Given the description of an element on the screen output the (x, y) to click on. 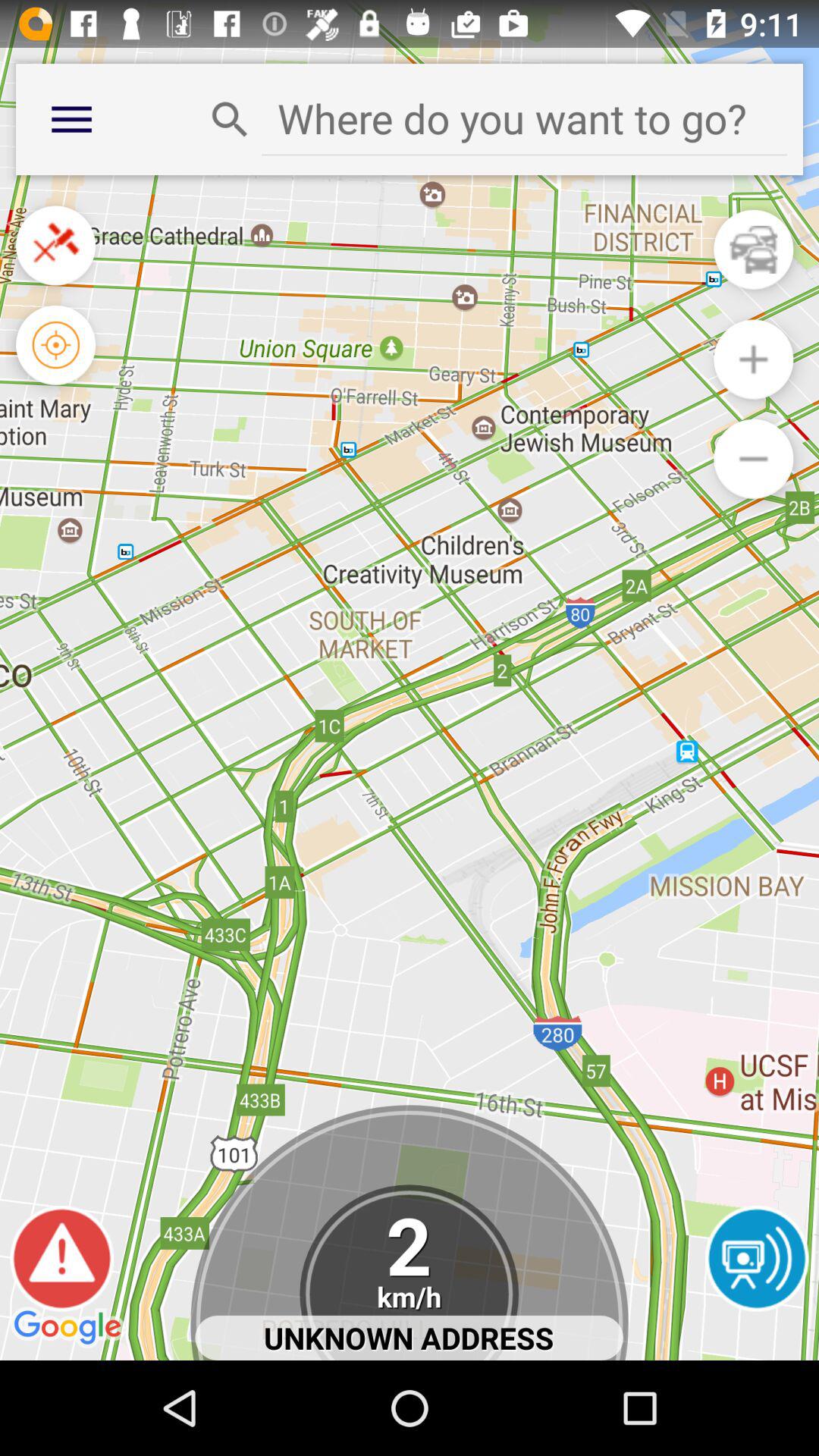
select distance by car (753, 249)
